Given the description of an element on the screen output the (x, y) to click on. 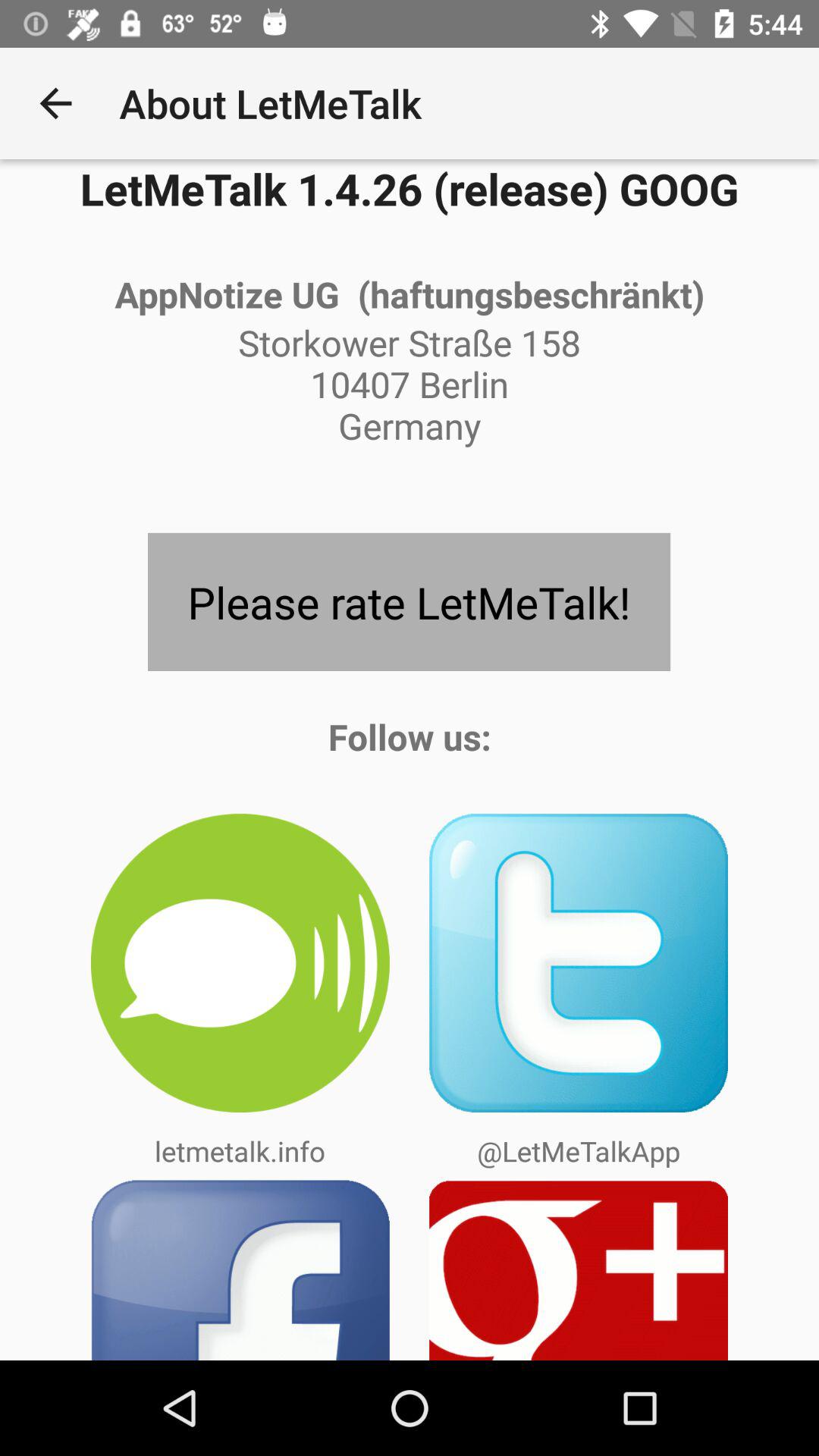
select the icon below 
follow us:
 app (240, 962)
